Given the description of an element on the screen output the (x, y) to click on. 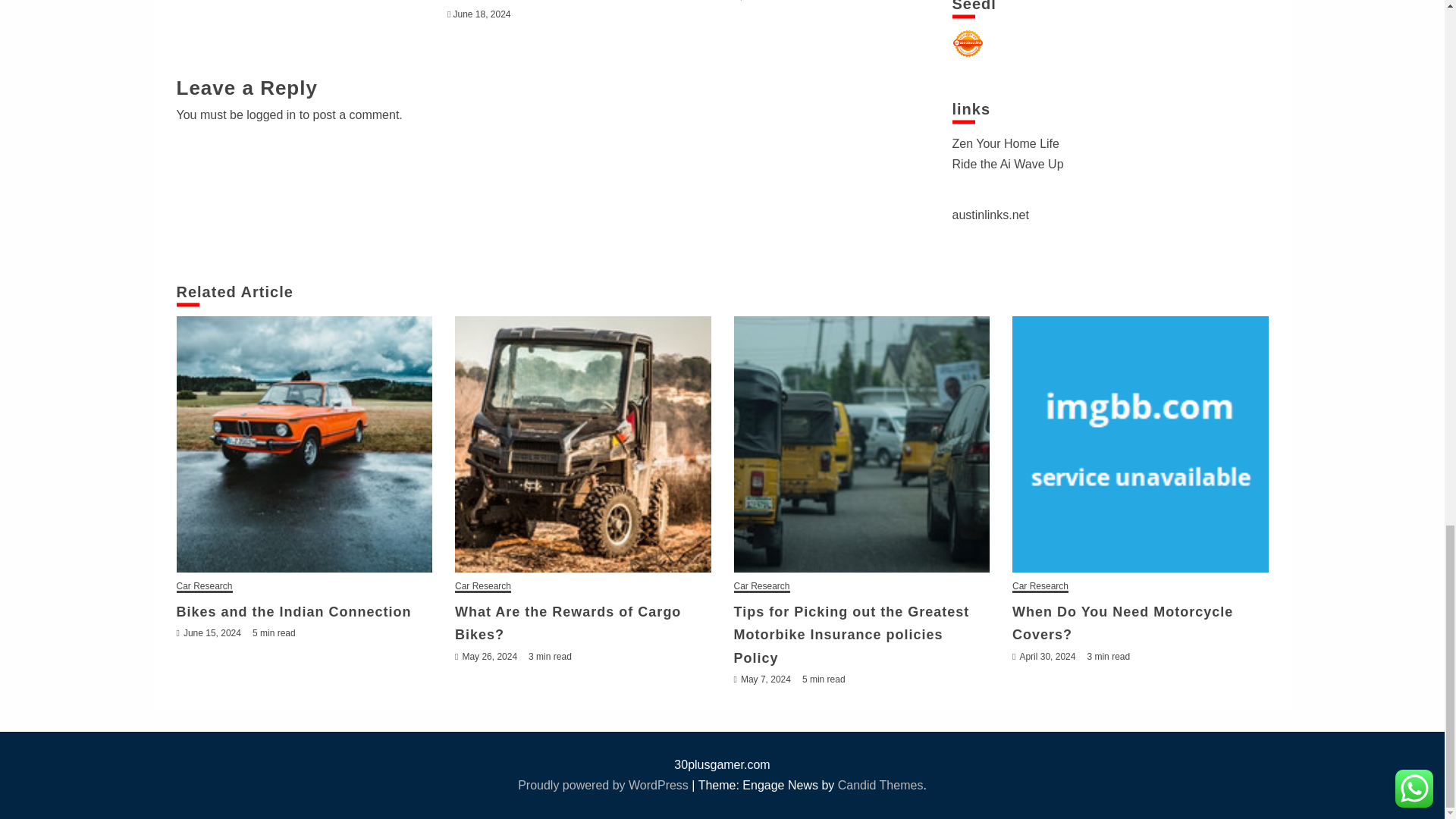
What Are the Rewards of Cargo Bikes? (582, 444)
June 8, 2024 (739, 0)
Seedbacklink (968, 43)
Bikes and the Indian Connection (304, 444)
June 18, 2024 (481, 14)
When Do You Need Motorcycle Covers? (1139, 444)
